Given the description of an element on the screen output the (x, y) to click on. 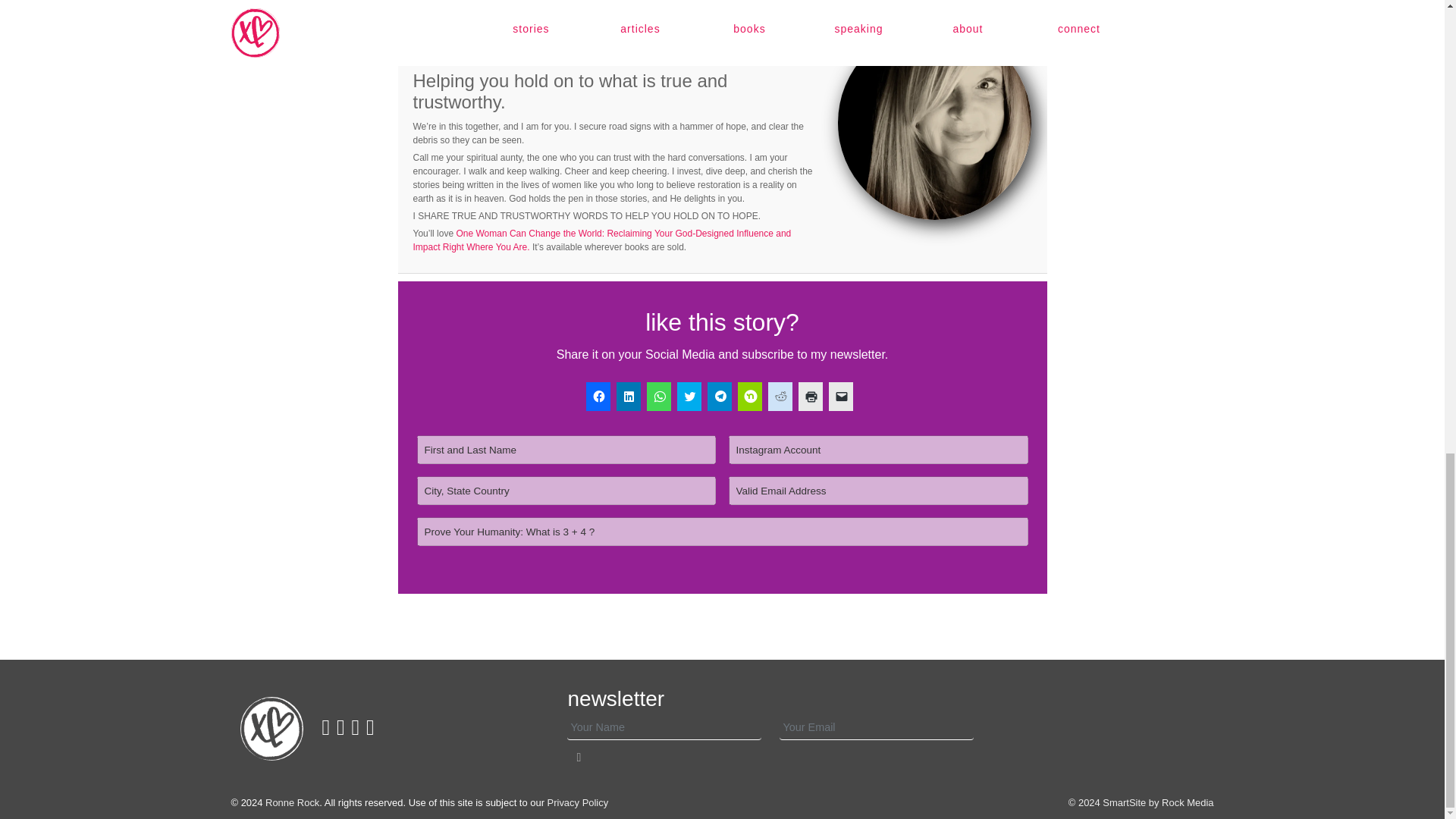
Privacy Policy (577, 802)
Ronne Rock (291, 802)
